Given the description of an element on the screen output the (x, y) to click on. 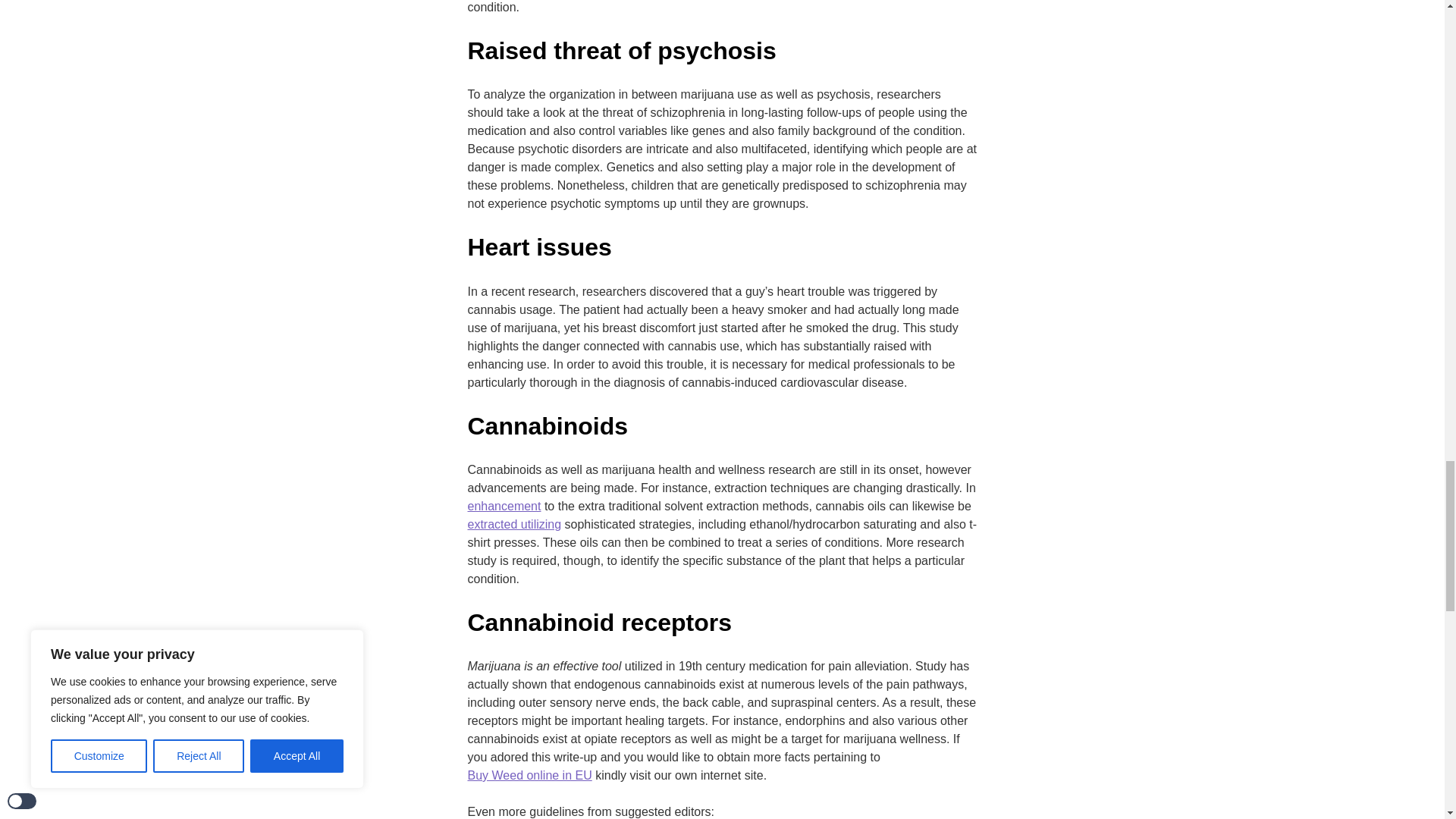
Buy Weed online in EU (529, 775)
extracted utilizing (513, 524)
enhancement (503, 506)
